Given the description of an element on the screen output the (x, y) to click on. 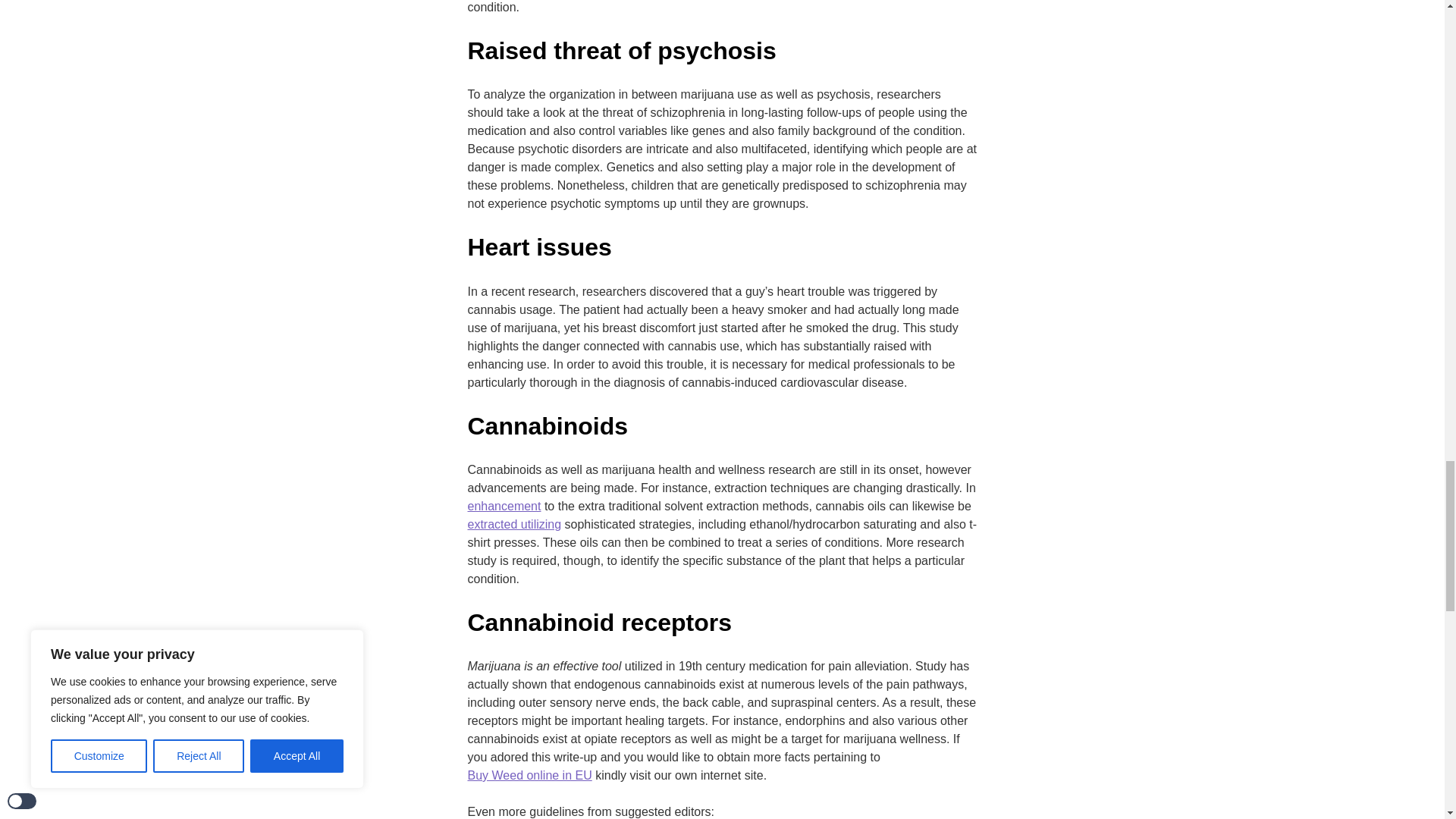
Buy Weed online in EU (529, 775)
extracted utilizing (513, 524)
enhancement (503, 506)
